Given the description of an element on the screen output the (x, y) to click on. 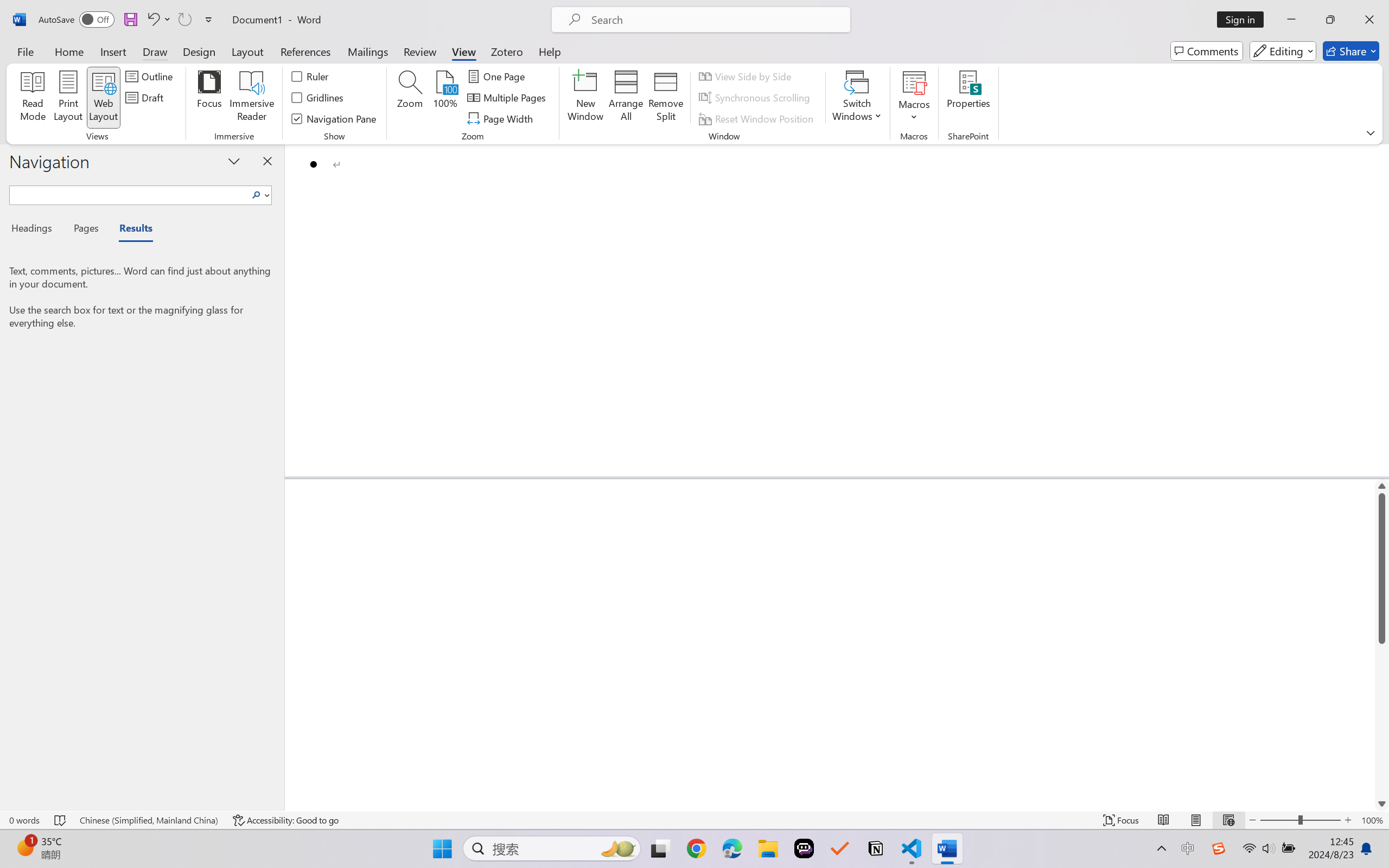
100% (445, 97)
View Macros (914, 81)
Arrange All (625, 97)
Ruler (309, 75)
